Given the description of an element on the screen output the (x, y) to click on. 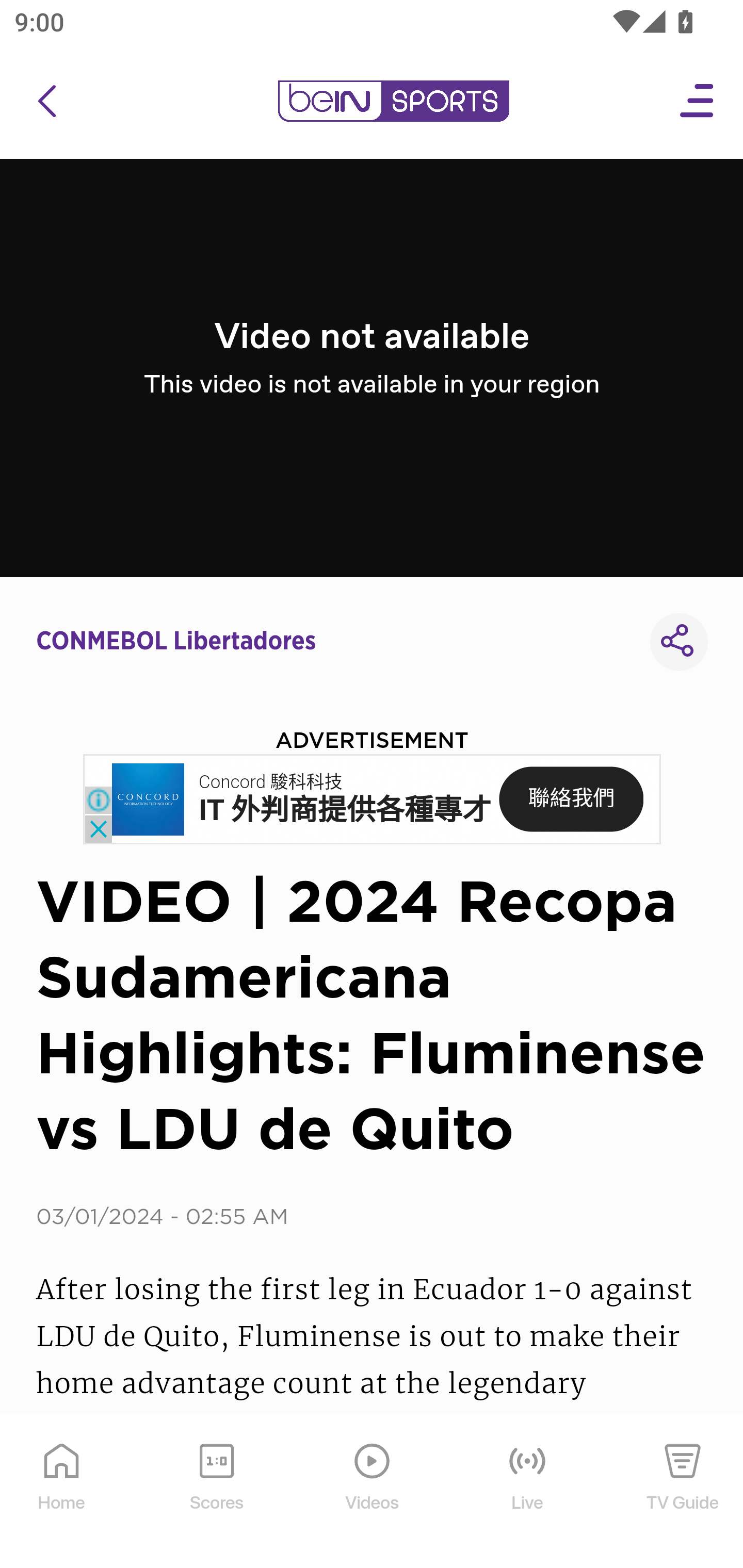
en-us?platform=mobile_android bein logo (392, 101)
icon back (46, 101)
Open Menu Icon (697, 101)
Concord 駿科科技 (270, 781)
IT 外判商提供各種專才 (344, 809)
Home Home Icon Home (61, 1491)
Scores Scores Icon Scores (216, 1491)
Videos Videos Icon Videos (372, 1491)
TV Guide TV Guide Icon TV Guide (682, 1491)
